Given the description of an element on the screen output the (x, y) to click on. 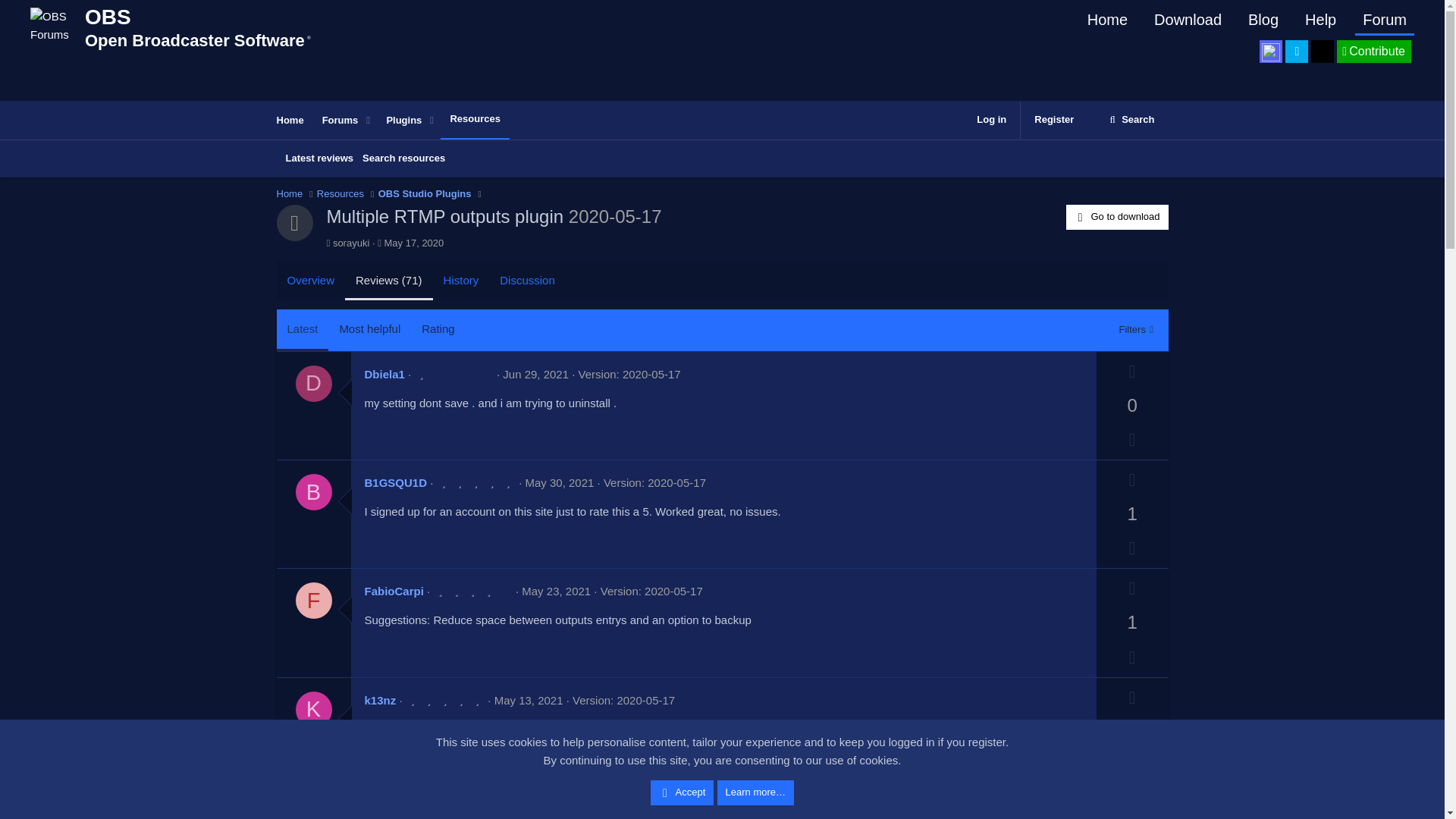
May 13, 2021 at 8:51 AM (529, 699)
Home (289, 193)
Latest reviews (319, 158)
Resources (340, 193)
github.com (1117, 217)
Help (1320, 19)
Contribute (387, 119)
May 30, 2021 at 9:15 PM (1373, 51)
Apr 23, 2021 at 1:29 PM (559, 481)
Resources (537, 808)
OBS Studio Plugins (474, 119)
Search (424, 193)
Download (1131, 119)
